Given the description of an element on the screen output the (x, y) to click on. 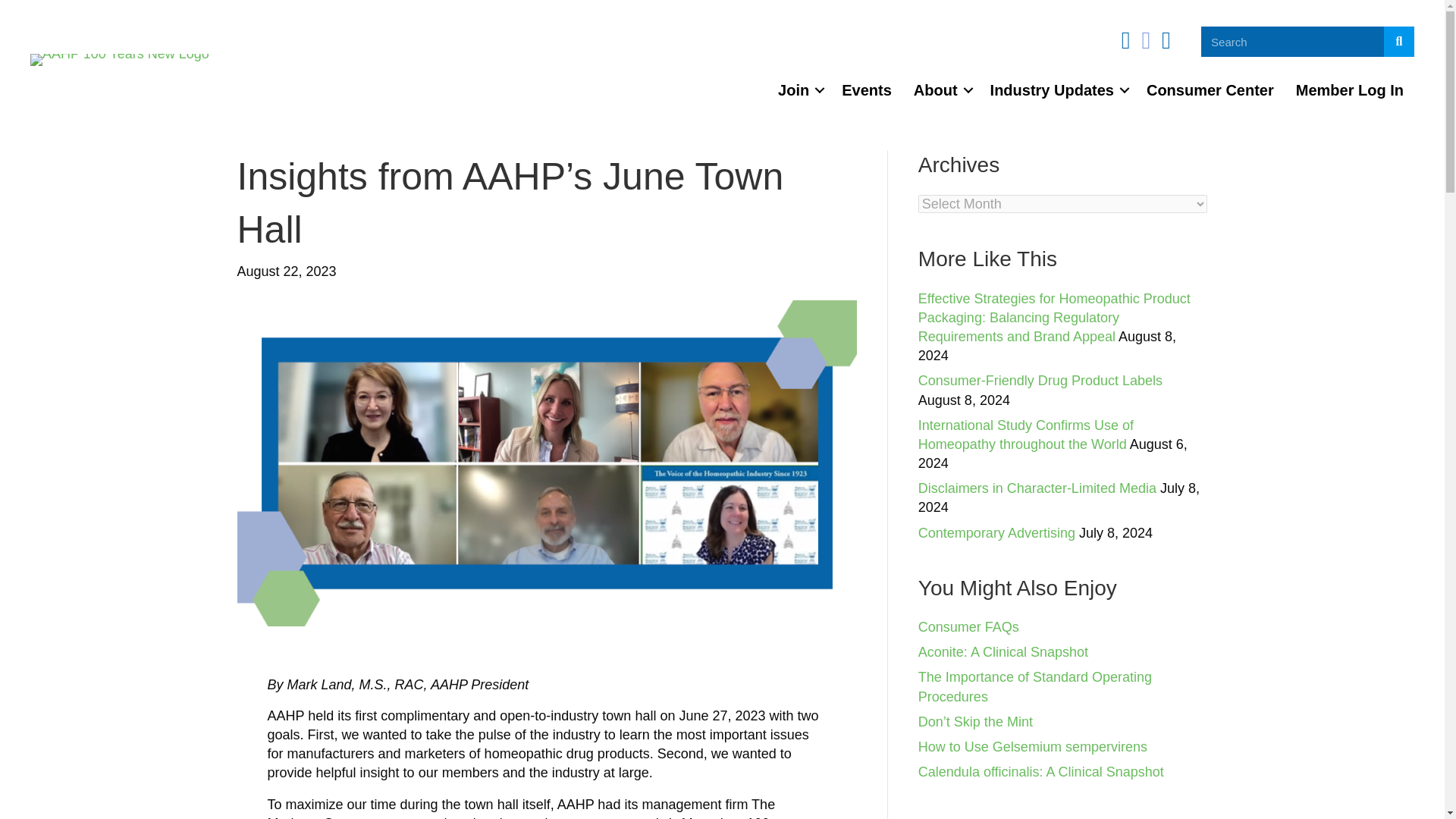
Industry Updates (1057, 90)
Events (866, 90)
Join (798, 90)
Consumer Center (1209, 90)
AAHP 100 Years New Logo (119, 60)
About (940, 90)
Member Log In (1349, 90)
Search (1292, 41)
